Given the description of an element on the screen output the (x, y) to click on. 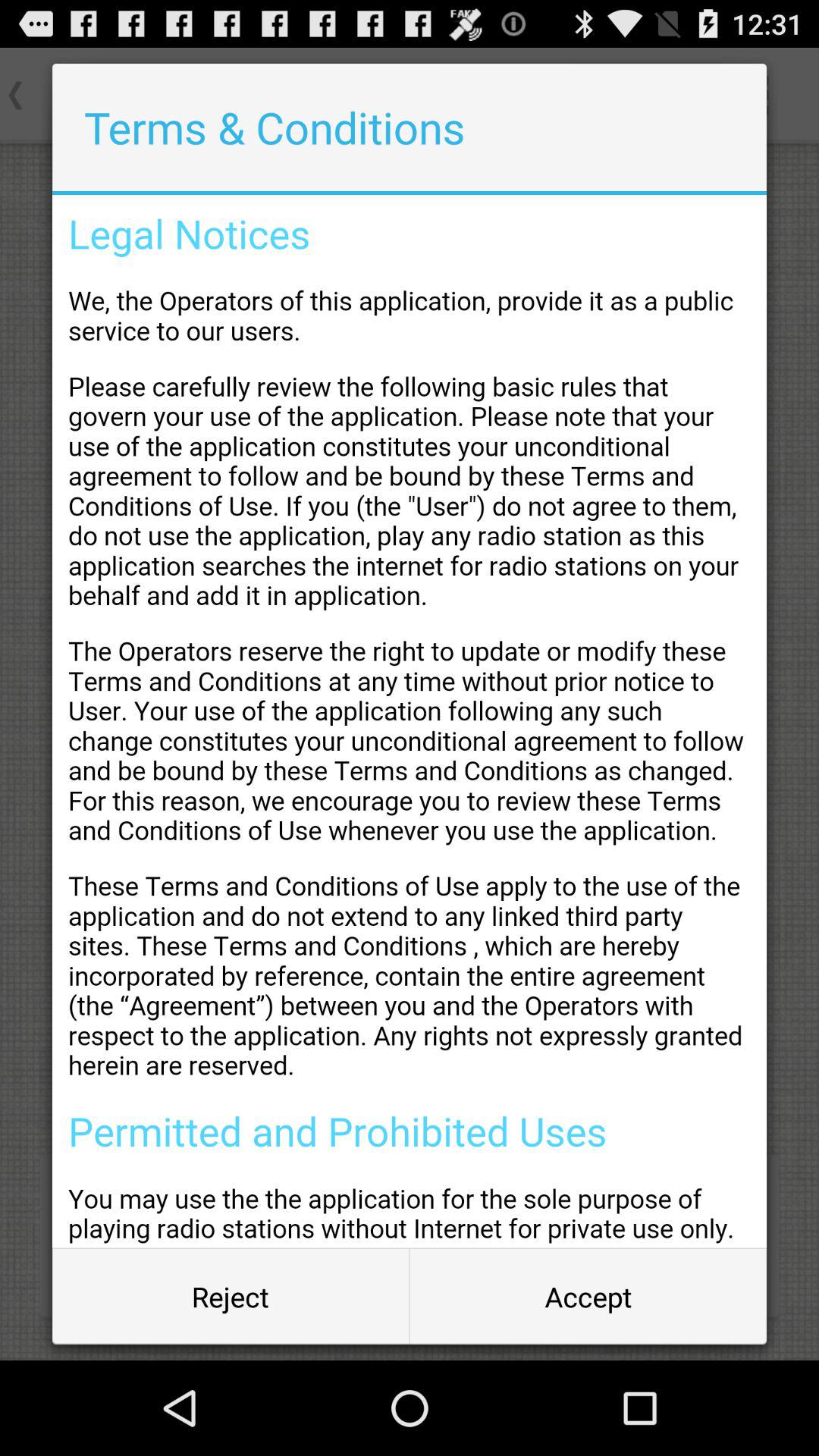
terms conditions (409, 721)
